Given the description of an element on the screen output the (x, y) to click on. 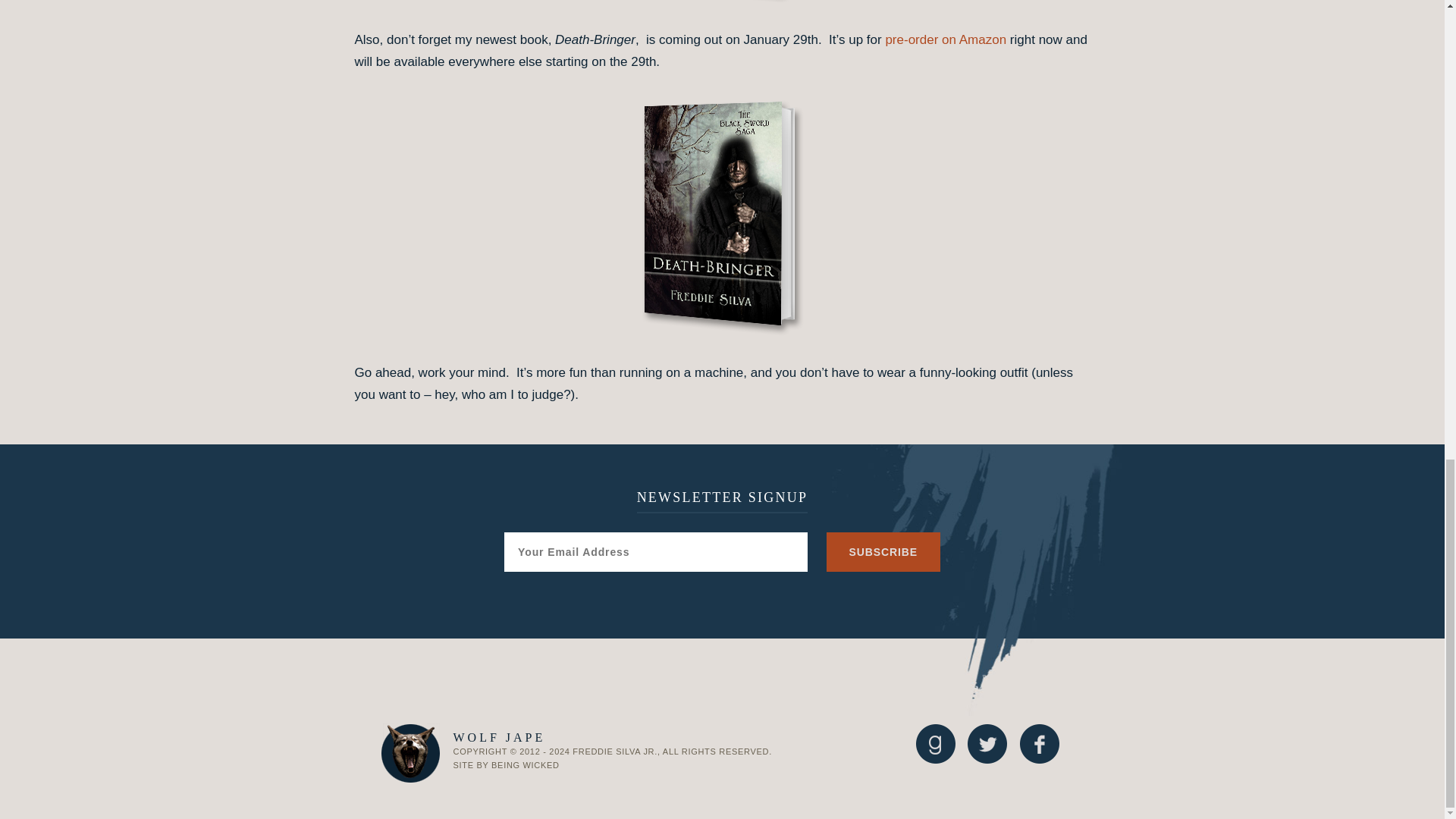
Facebook (1038, 743)
Twitter (987, 743)
Subscribe (883, 551)
pre-order on Amazon (945, 39)
goodreads (935, 743)
BEING WICKED (525, 764)
Subscribe (883, 551)
